Given the description of an element on the screen output the (x, y) to click on. 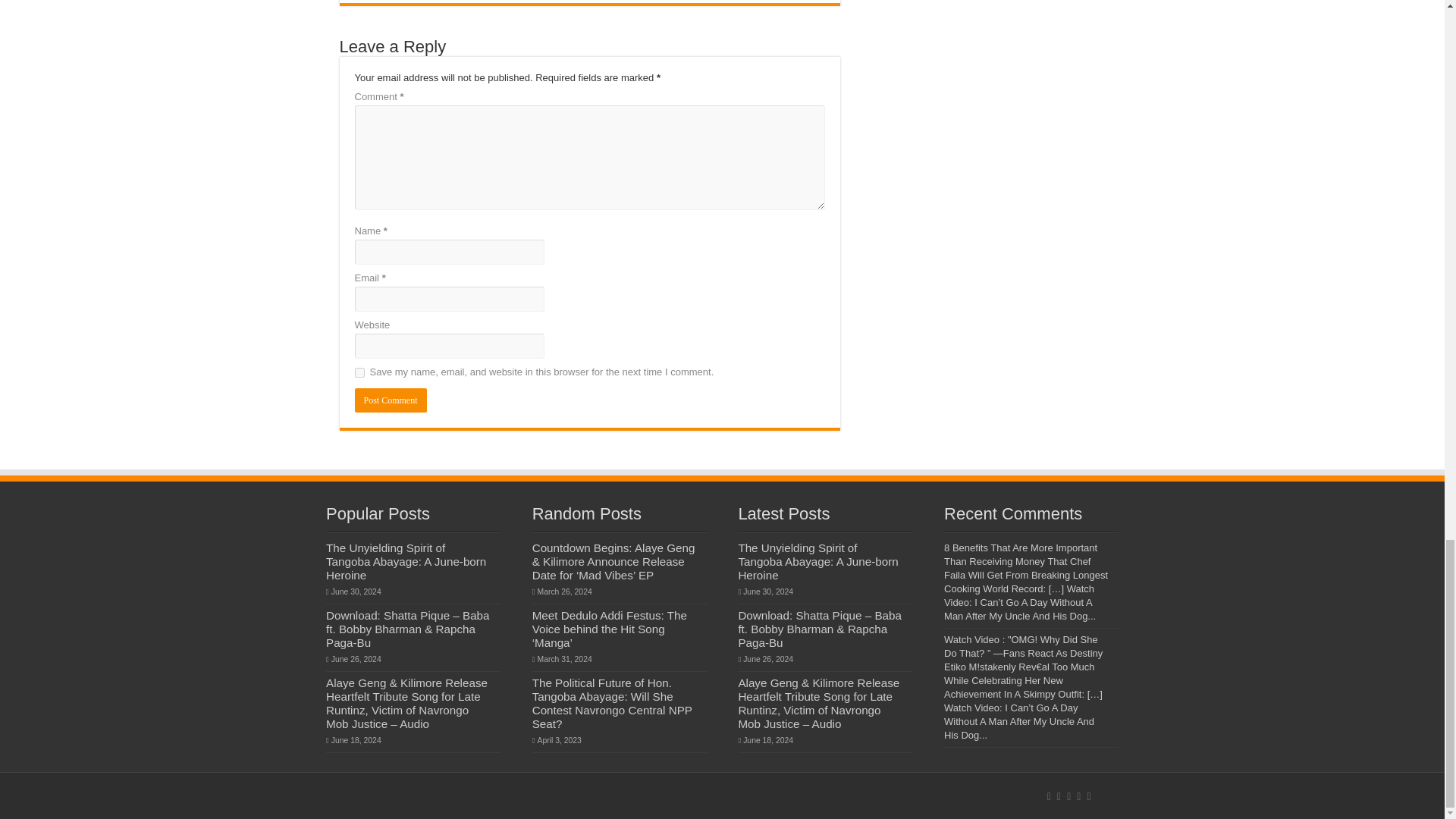
Post Comment (390, 400)
yes (360, 372)
